Given the description of an element on the screen output the (x, y) to click on. 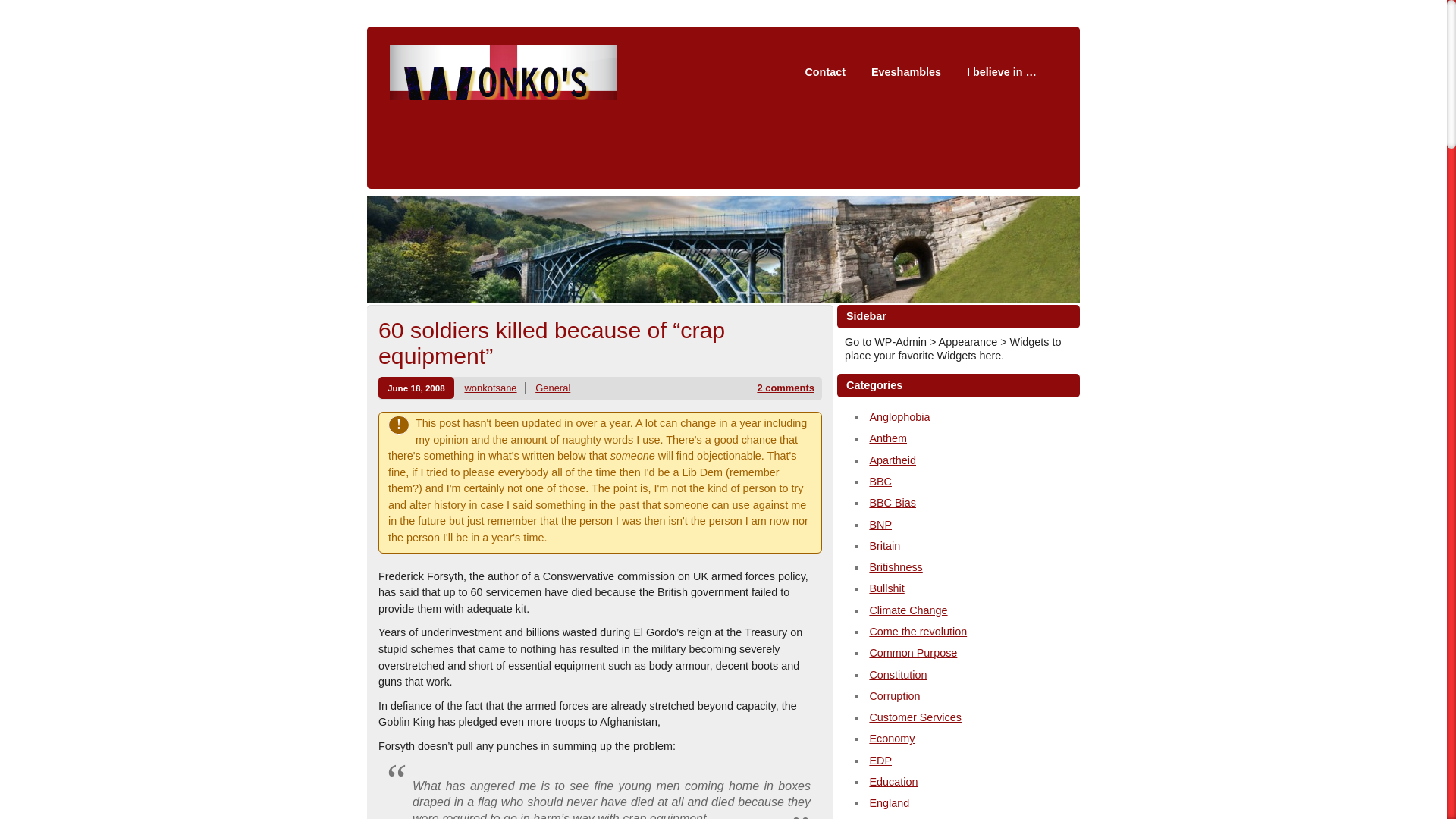
Apartheid (892, 460)
EDP (880, 760)
wonkotsane (490, 387)
2 comments (785, 388)
Customer Services (914, 717)
Constitution (897, 674)
Contact (825, 71)
Economy (891, 738)
Corruption (894, 695)
June 18, 2008 (416, 387)
Anthem (888, 438)
Posts by wonkotsane (490, 387)
Eveshambles (906, 71)
Anglophobia (899, 417)
